Given the description of an element on the screen output the (x, y) to click on. 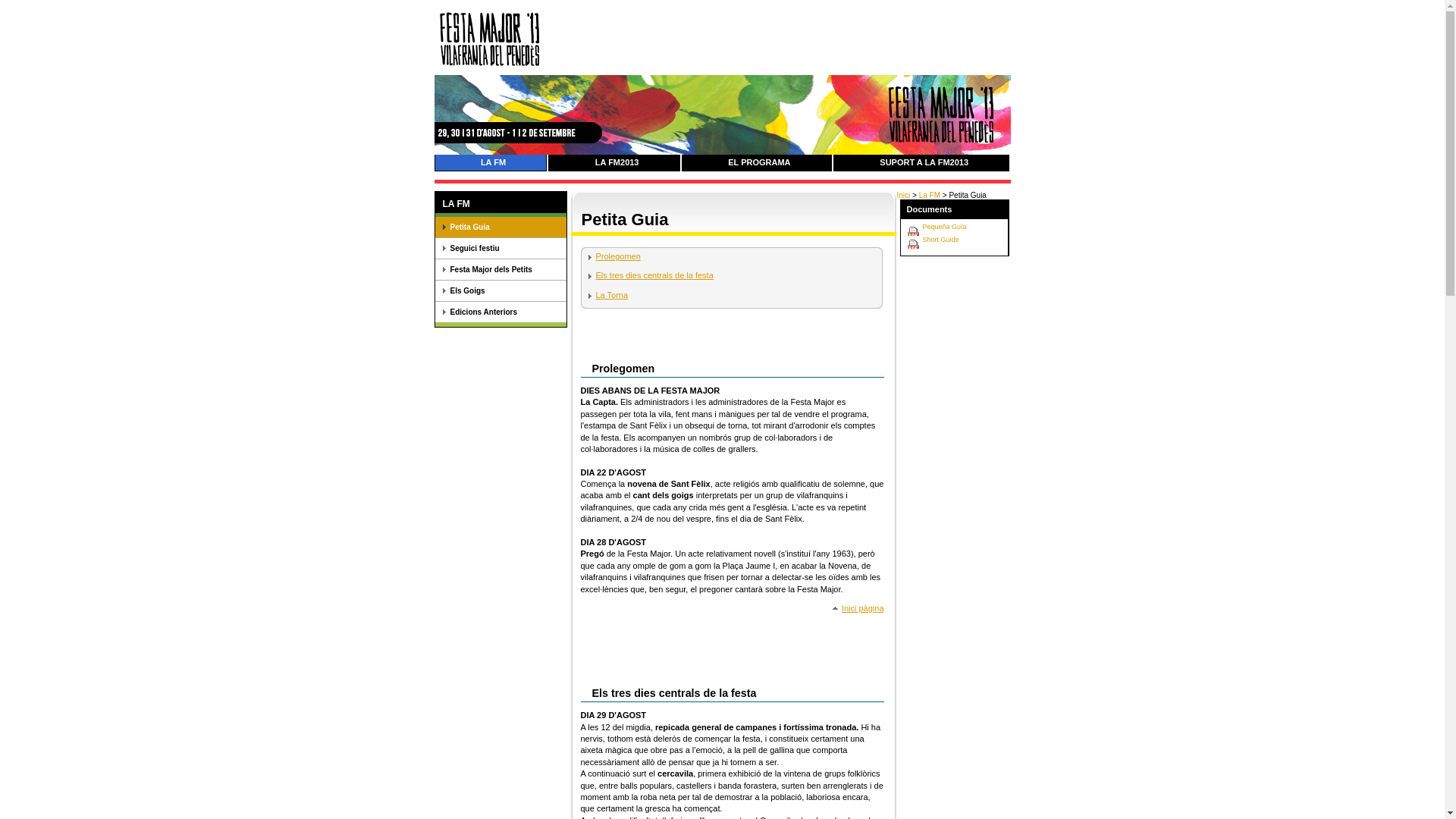
Els tres dies centrals de la festa Element type: text (650, 274)
Edicions Anteriors Element type: text (500, 312)
Prolegomen Element type: text (614, 255)
LA FM Element type: text (500, 203)
Seguici festiu Element type: text (500, 248)
SUPORT A LA FM2013 Element type: text (924, 162)
LA FM Element type: text (493, 162)
Els Goigs Element type: text (500, 290)
La Torna Element type: text (608, 294)
Festa Major dels Petits Element type: text (500, 269)
LA FM2013 Element type: text (616, 162)
Inici Element type: text (903, 195)
EL PROGRAMA Element type: text (759, 162)
Short Guide Element type: text (940, 239)
La FM Element type: text (929, 195)
